Given the description of an element on the screen output the (x, y) to click on. 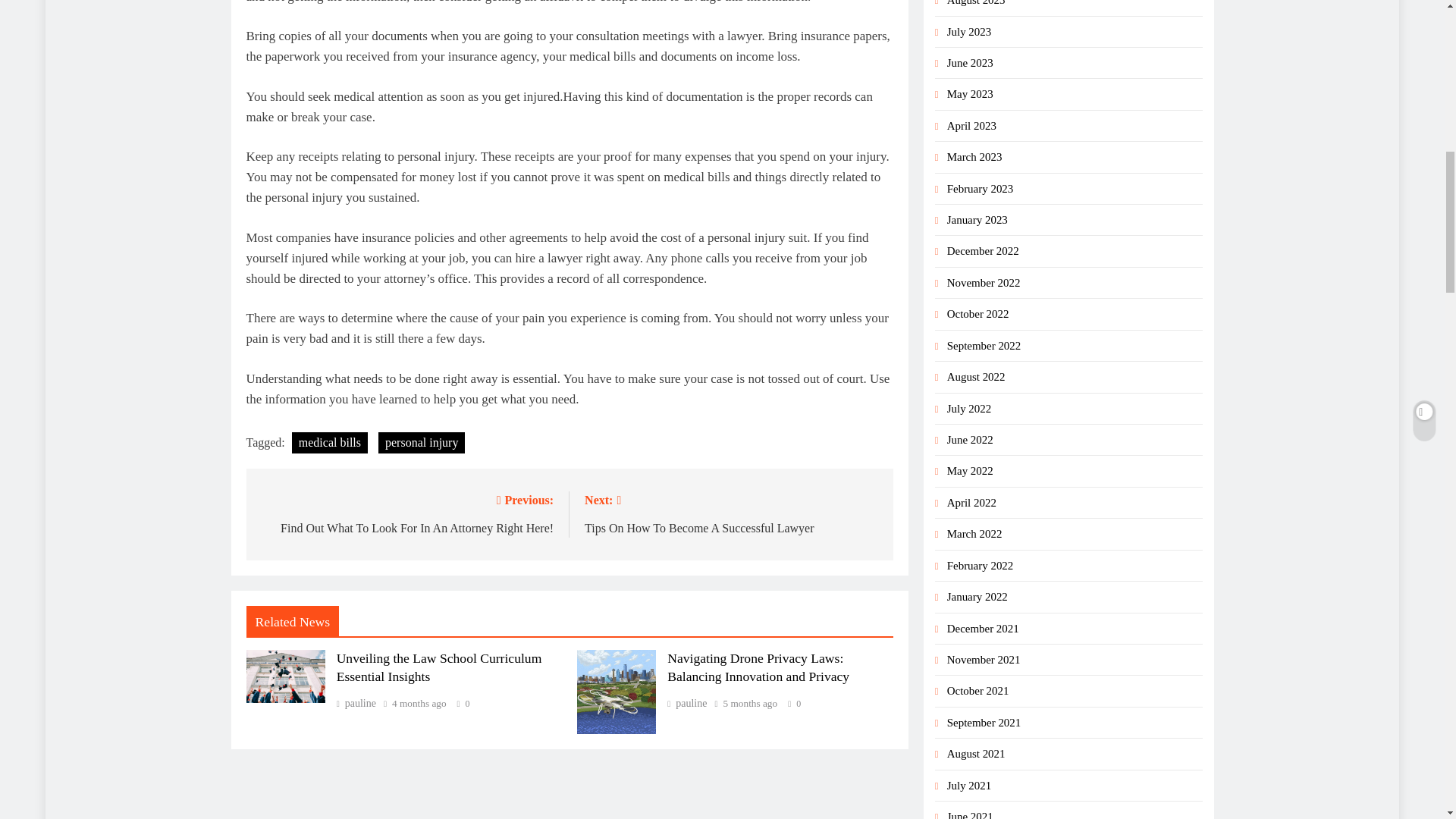
Unveiling the Law School Curriculum Essential Insights (285, 675)
